Given the description of an element on the screen output the (x, y) to click on. 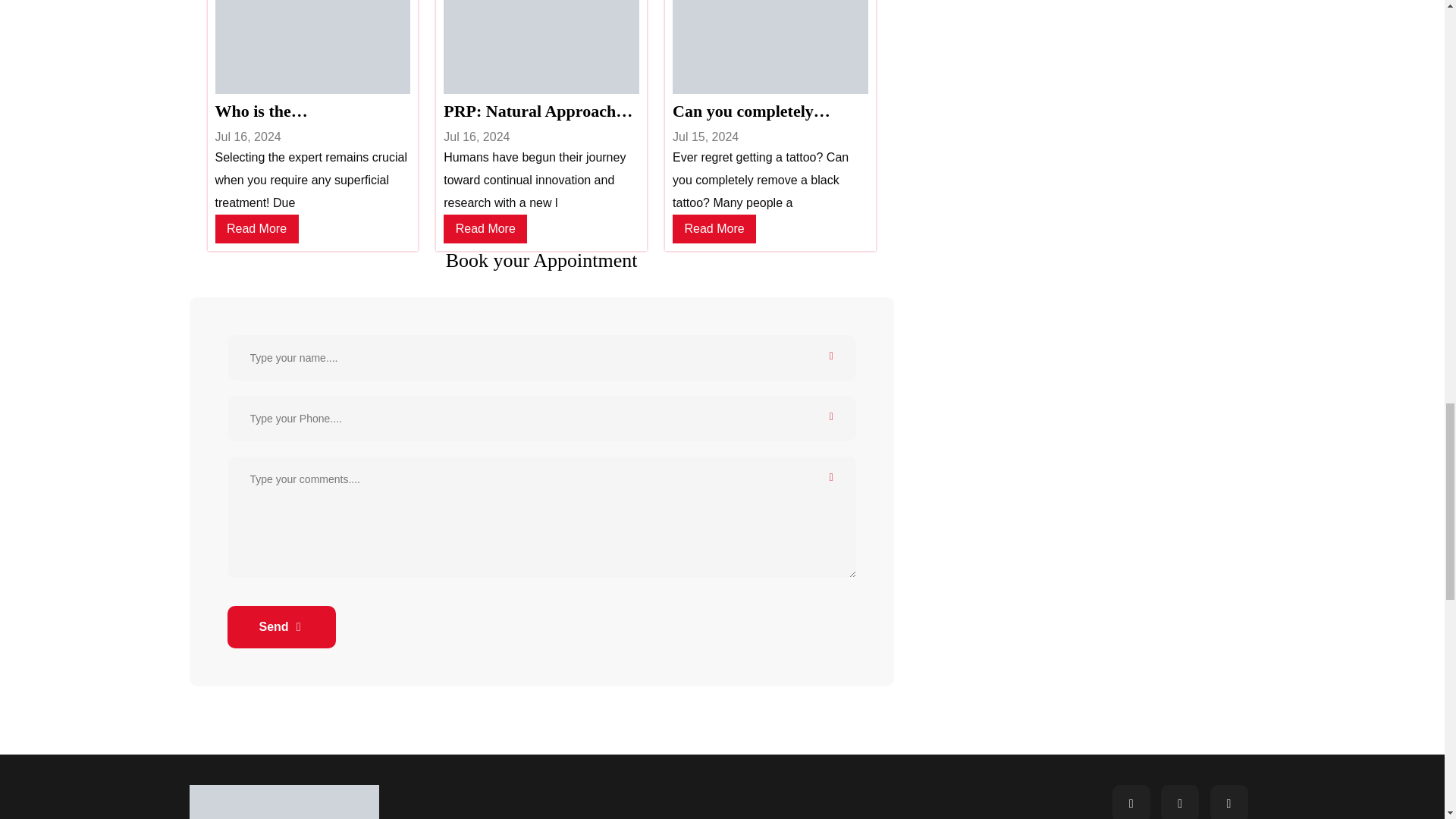
Who is the best doctor for gynecomastia in Islamabad? (312, 111)
Can you completely remove a black tattoo? (769, 111)
PRP: Natural Approach to Hair Regrowth and Rejuvenation (541, 111)
